Given the description of an element on the screen output the (x, y) to click on. 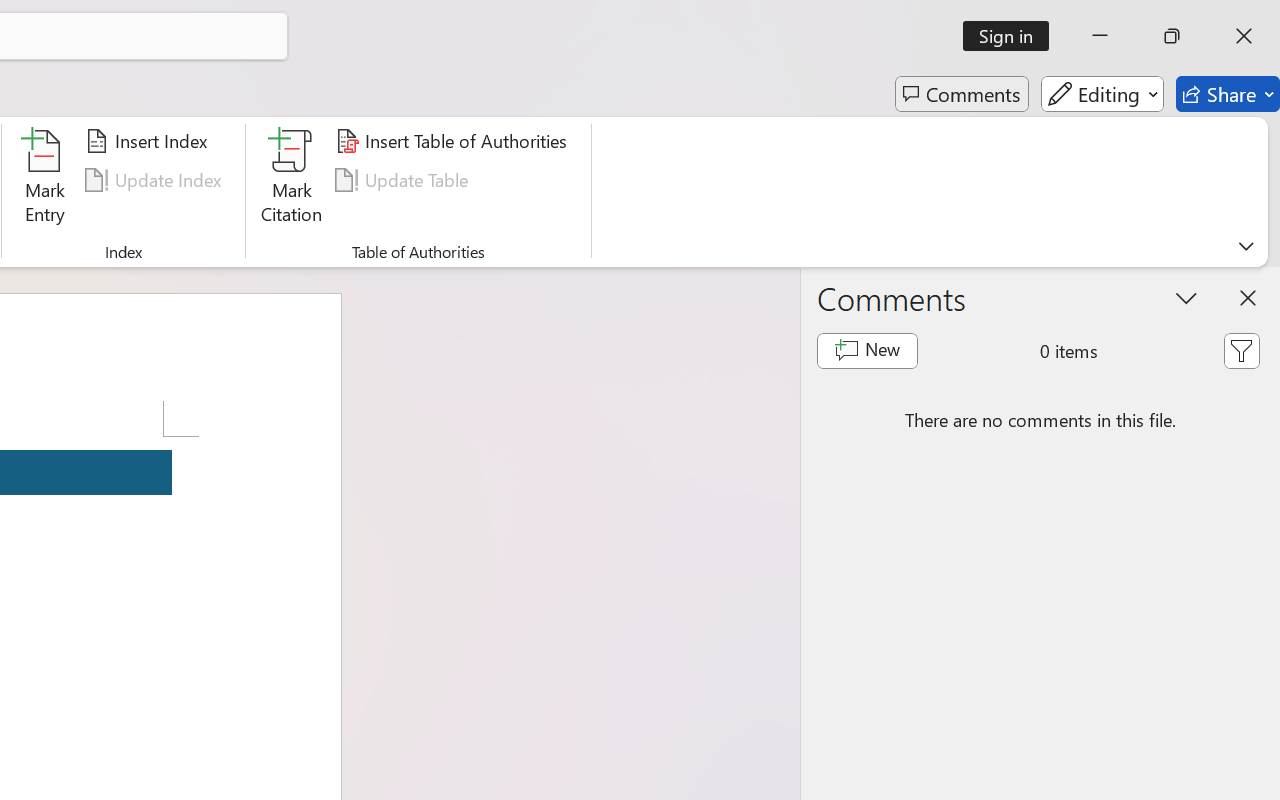
Mark Citation... (292, 179)
